Given the description of an element on the screen output the (x, y) to click on. 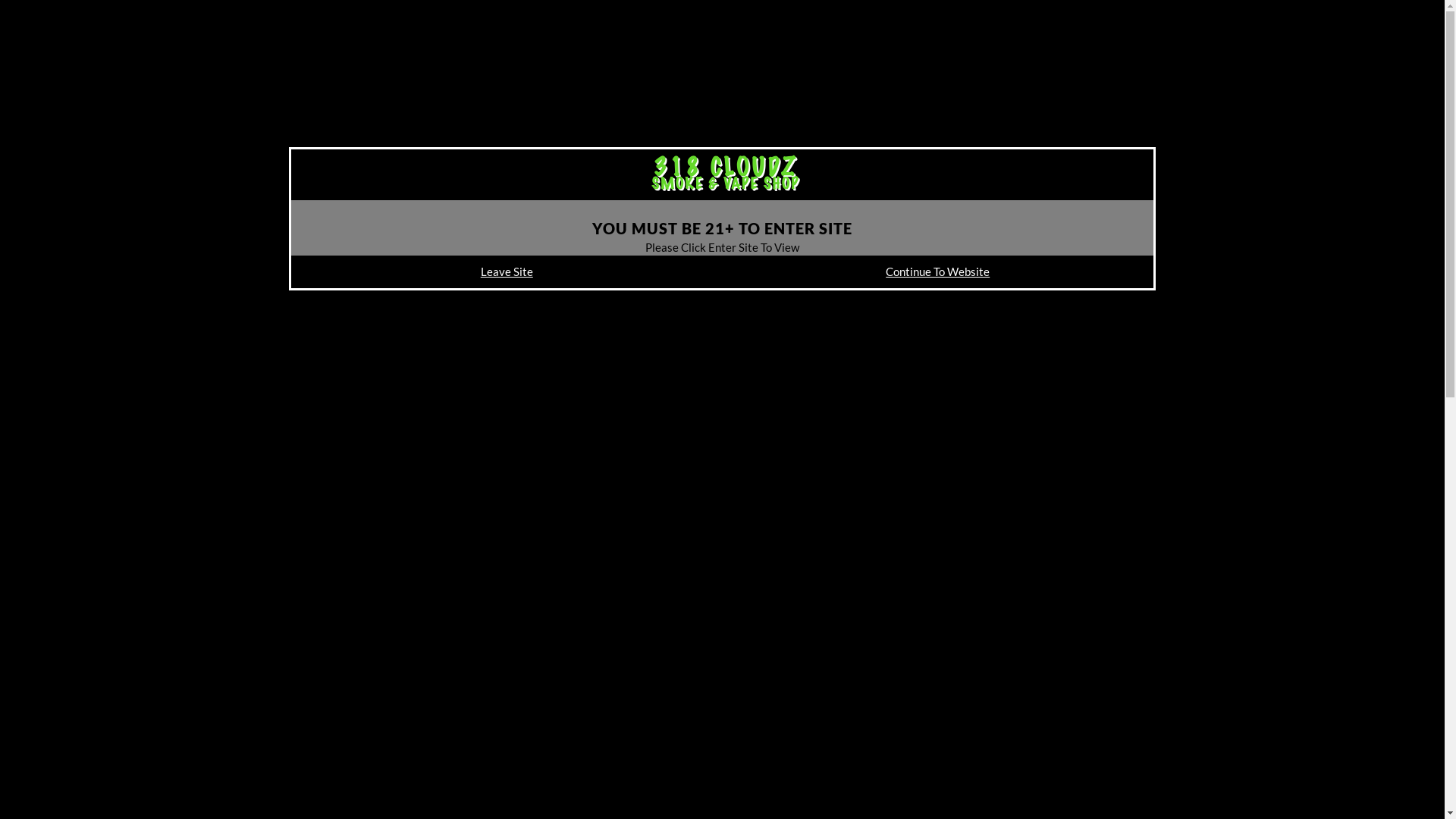
CBD Element type: text (1160, 102)
contact us Element type: text (94, 352)
Leave Site Element type: text (506, 271)
CONTACT Element type: text (1403, 102)
Facebook Element type: hover (1425, 14)
HOOKAH Element type: text (1109, 102)
HOME Element type: text (998, 102)
We've Got Clouds of Flavor Element type: text (185, 193)
(318) 754-4102 Element type: hover (221, 13)
